Given the description of an element on the screen output the (x, y) to click on. 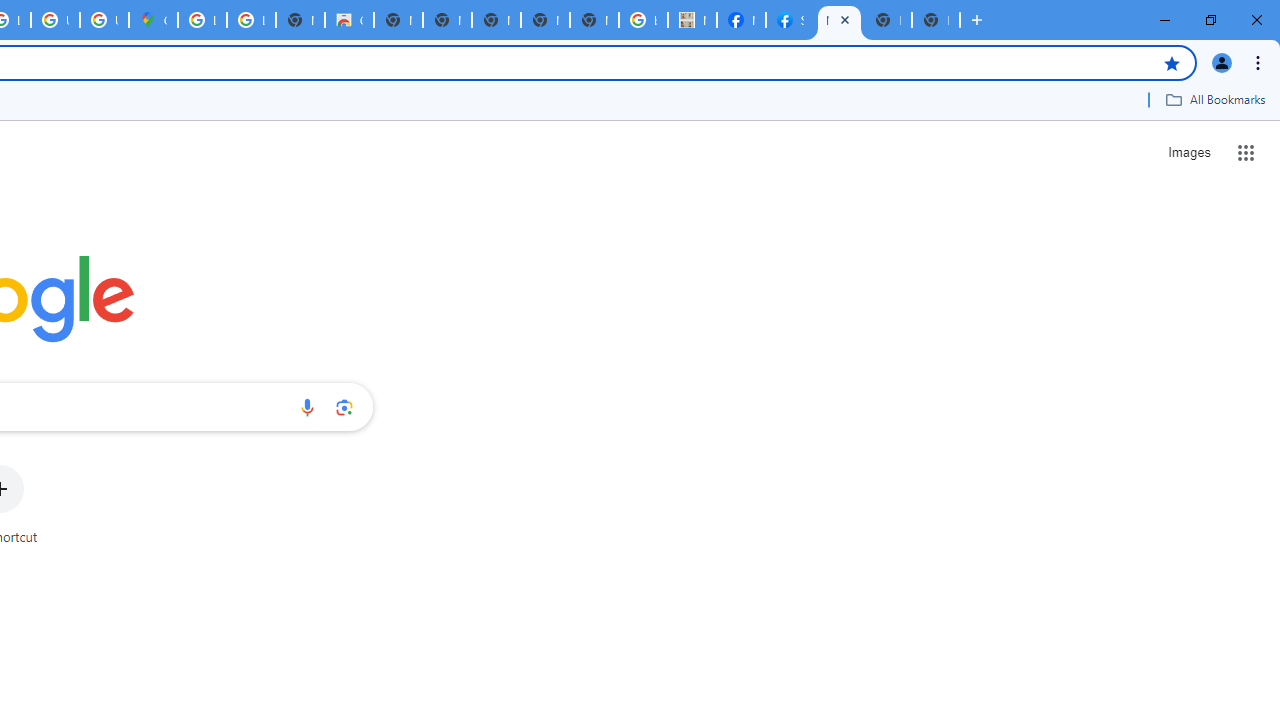
Miley Cyrus | Facebook (740, 20)
MILEY CYRUS. (692, 20)
Google Maps (153, 20)
